Given the description of an element on the screen output the (x, y) to click on. 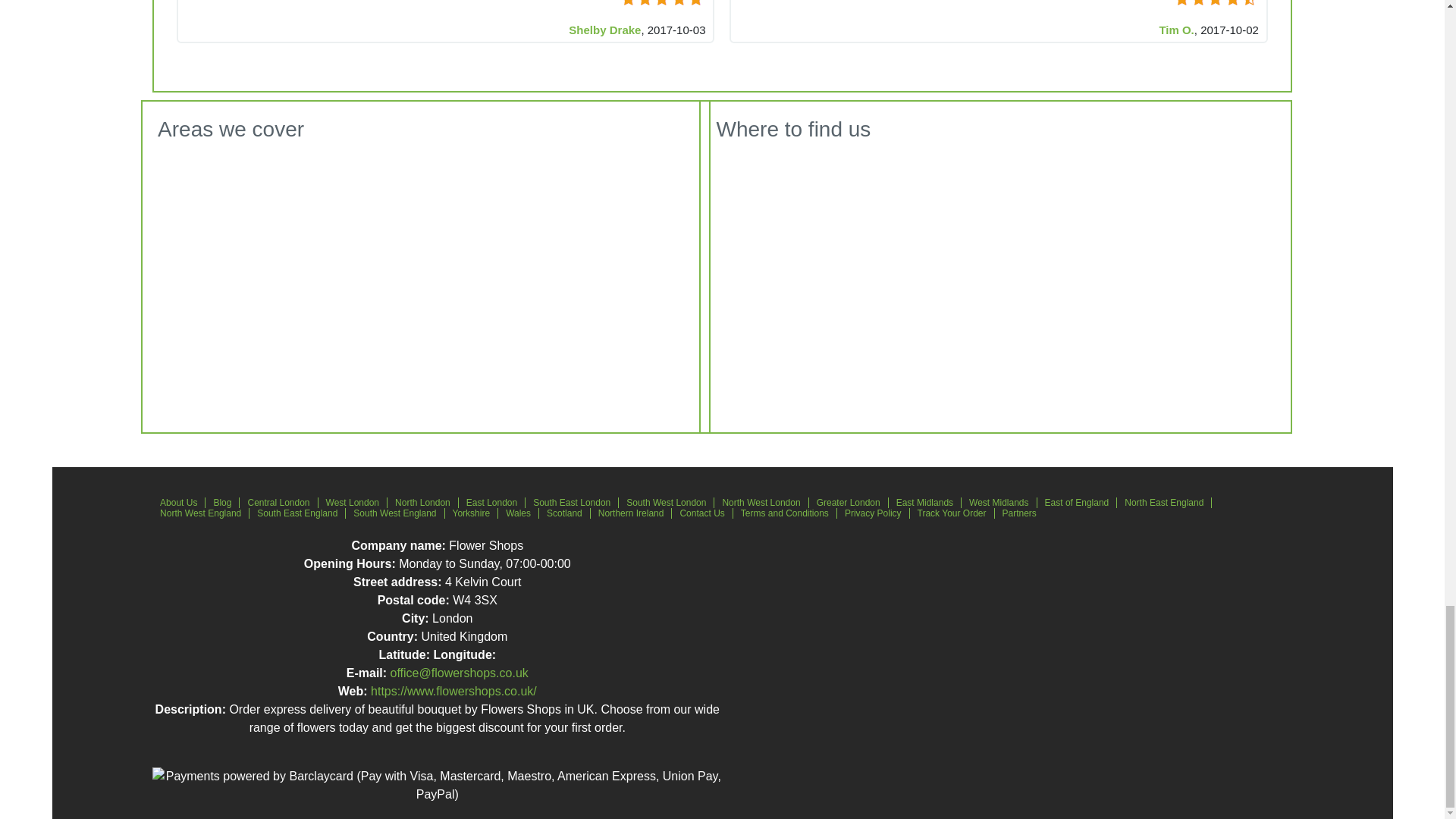
East of England (1077, 502)
South East England (297, 512)
North London (422, 502)
South West England (395, 512)
About Us (178, 502)
Wales (517, 512)
North East England (1163, 502)
Scotland (564, 512)
West London (353, 502)
West Midlands (998, 502)
Send E-mail (459, 672)
Yorkshire (472, 512)
Central London (278, 502)
Map (1063, 262)
South East London (571, 502)
